Given the description of an element on the screen output the (x, y) to click on. 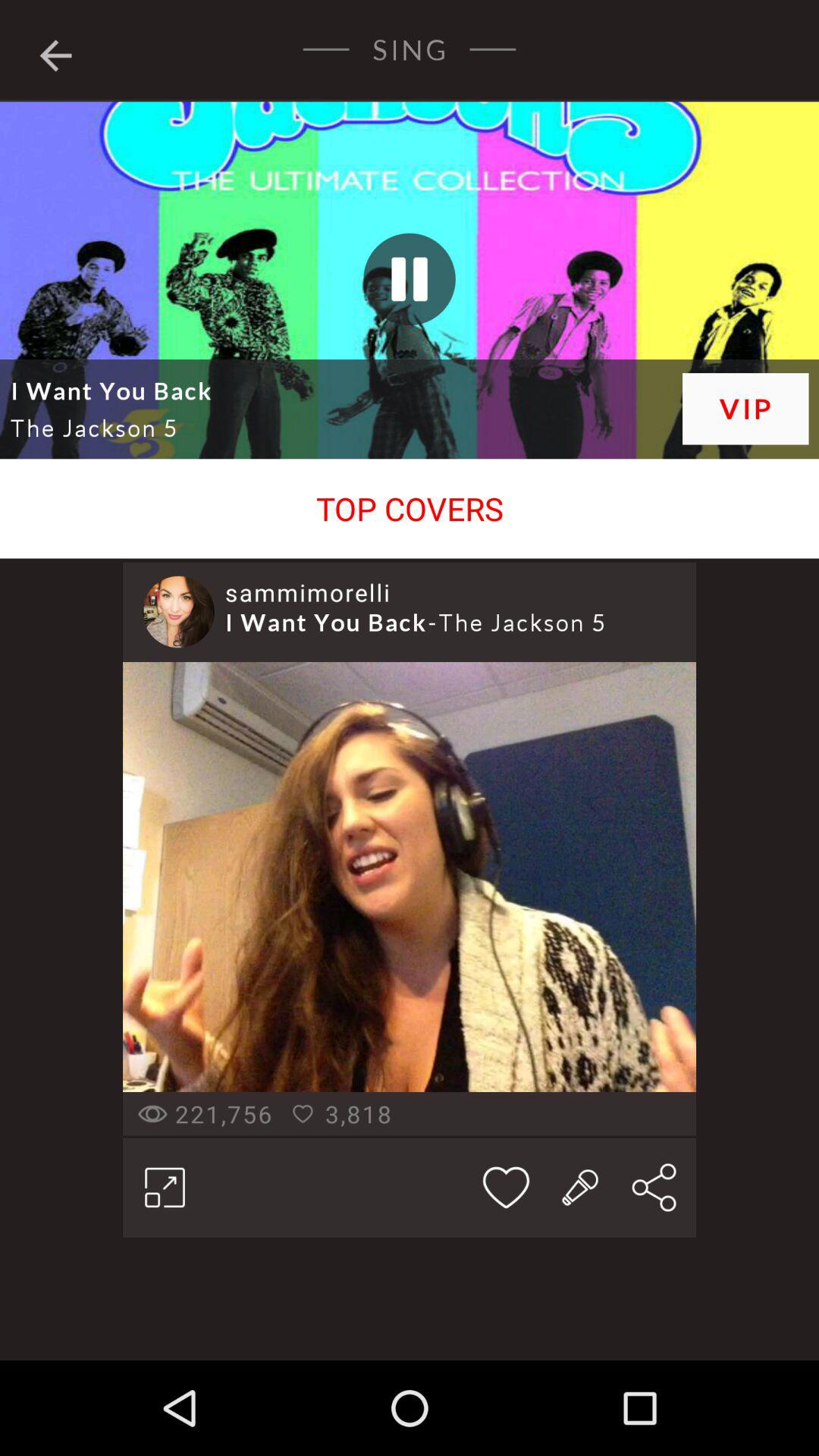
turn on the item to the left of sing icon (55, 52)
